Given the description of an element on the screen output the (x, y) to click on. 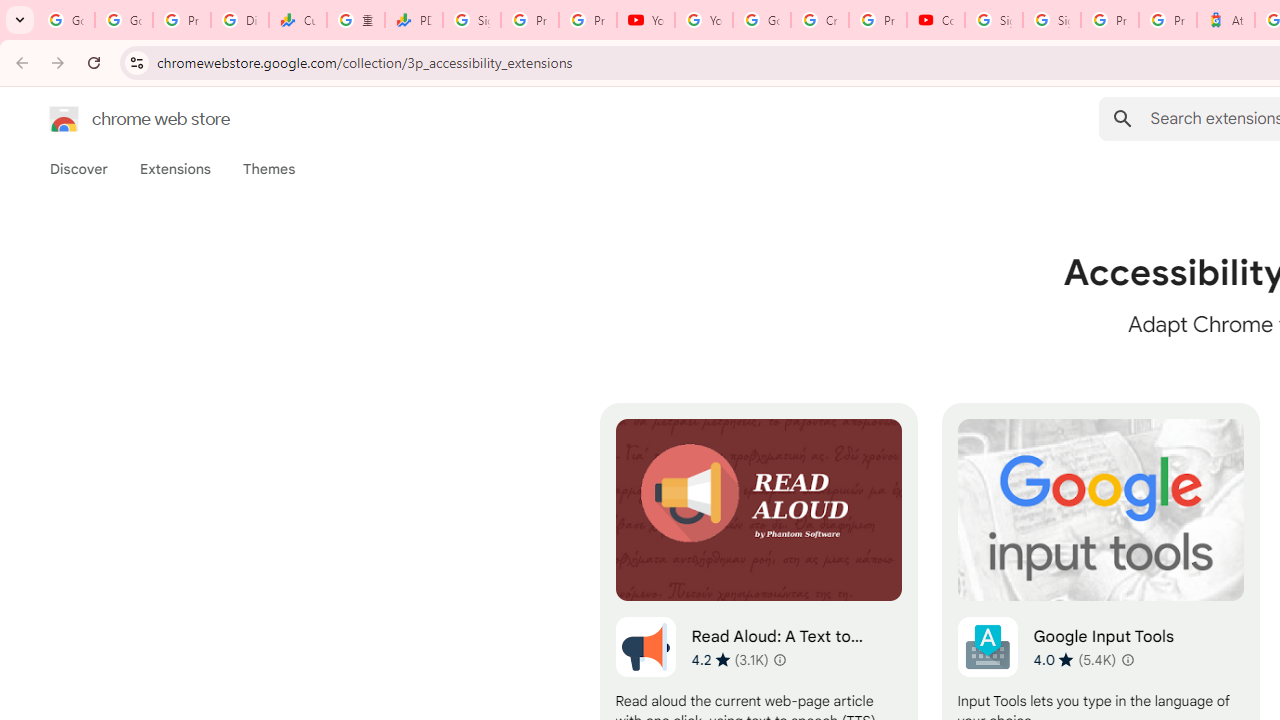
Sign in - Google Accounts (1051, 20)
Learn more about results and reviews "Google Input Tools" (1127, 659)
Privacy Checkup (587, 20)
Atour Hotel - Google hotels (1225, 20)
Extensions (174, 169)
Google Workspace Admin Community (65, 20)
